Given the description of an element on the screen output the (x, y) to click on. 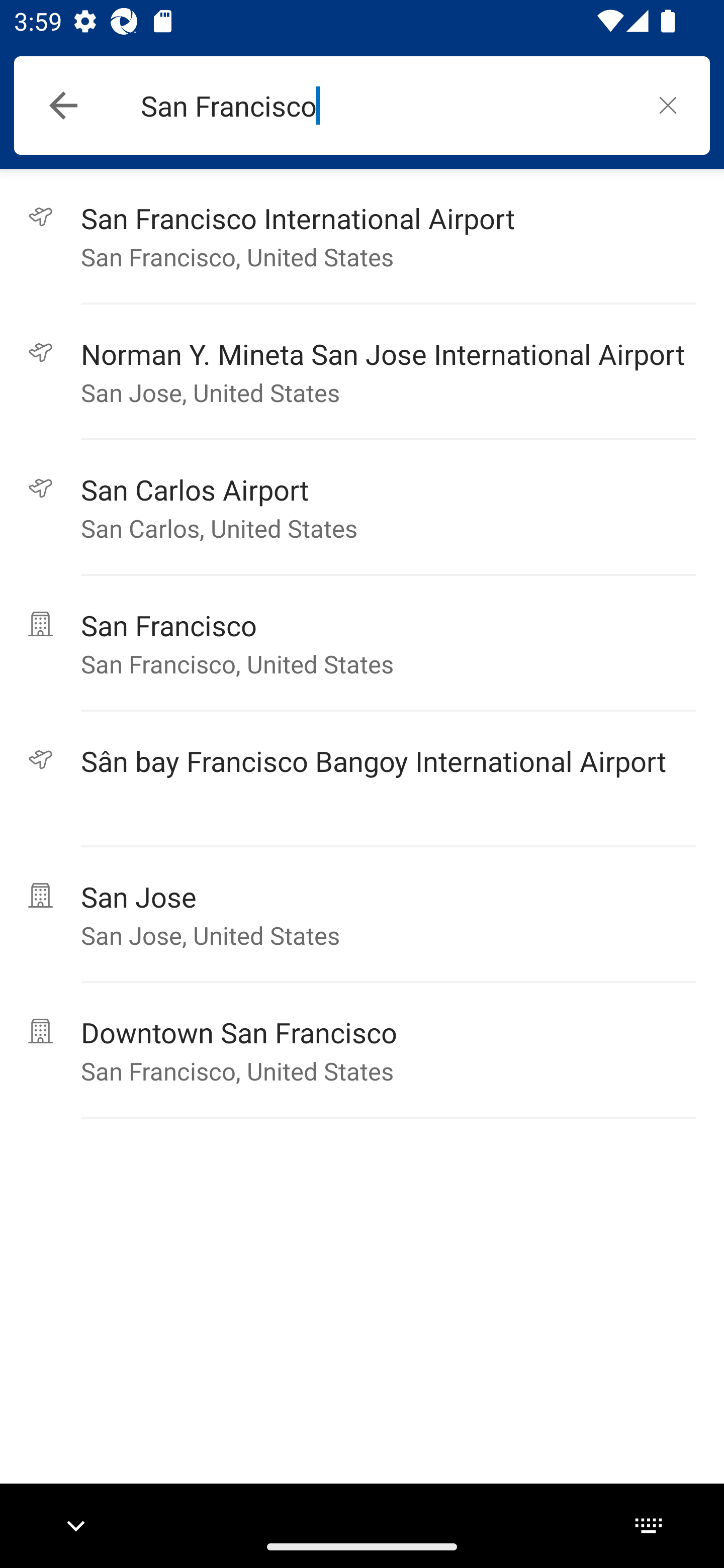
Navigate up (62, 105)
놕 (667, 104)
San Francisco (382, 105)
끭 San Carlos Airport San Carlos, United States (362, 507)
넭 San Francisco San Francisco, United States (362, 643)
끭 Sân bay Francisco Bangoy International Airport (362, 778)
넭 San Jose San Jose, United States (362, 914)
